Given the description of an element on the screen output the (x, y) to click on. 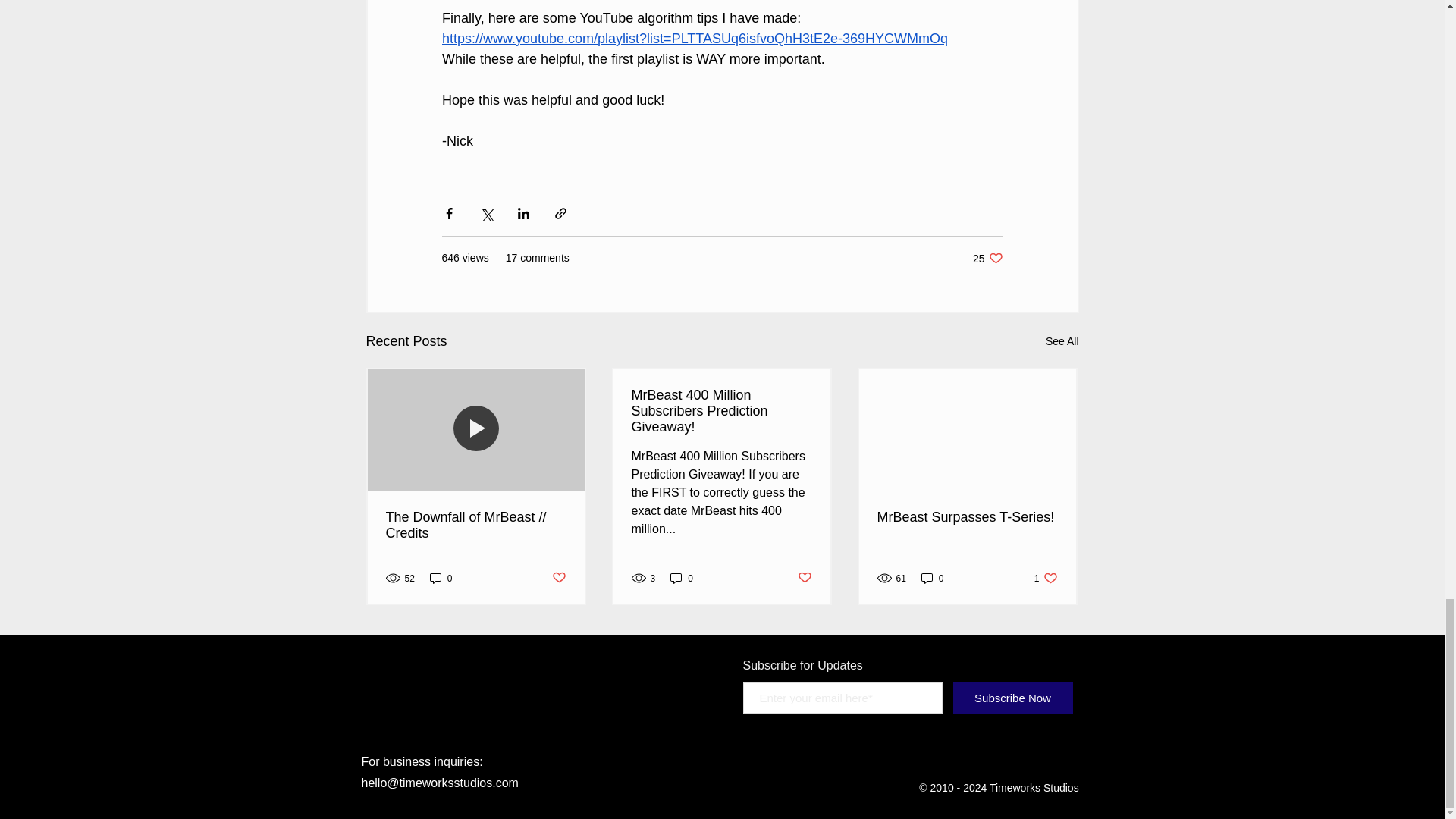
Post not marked as liked (987, 257)
0 (558, 578)
0 (681, 577)
MrBeast Surpasses T-Series! (932, 577)
See All (1045, 577)
Post not marked as liked (966, 517)
0 (1061, 341)
MrBeast 400 Million Subscribers Prediction Giveaway! (804, 578)
